Given the description of an element on the screen output the (x, y) to click on. 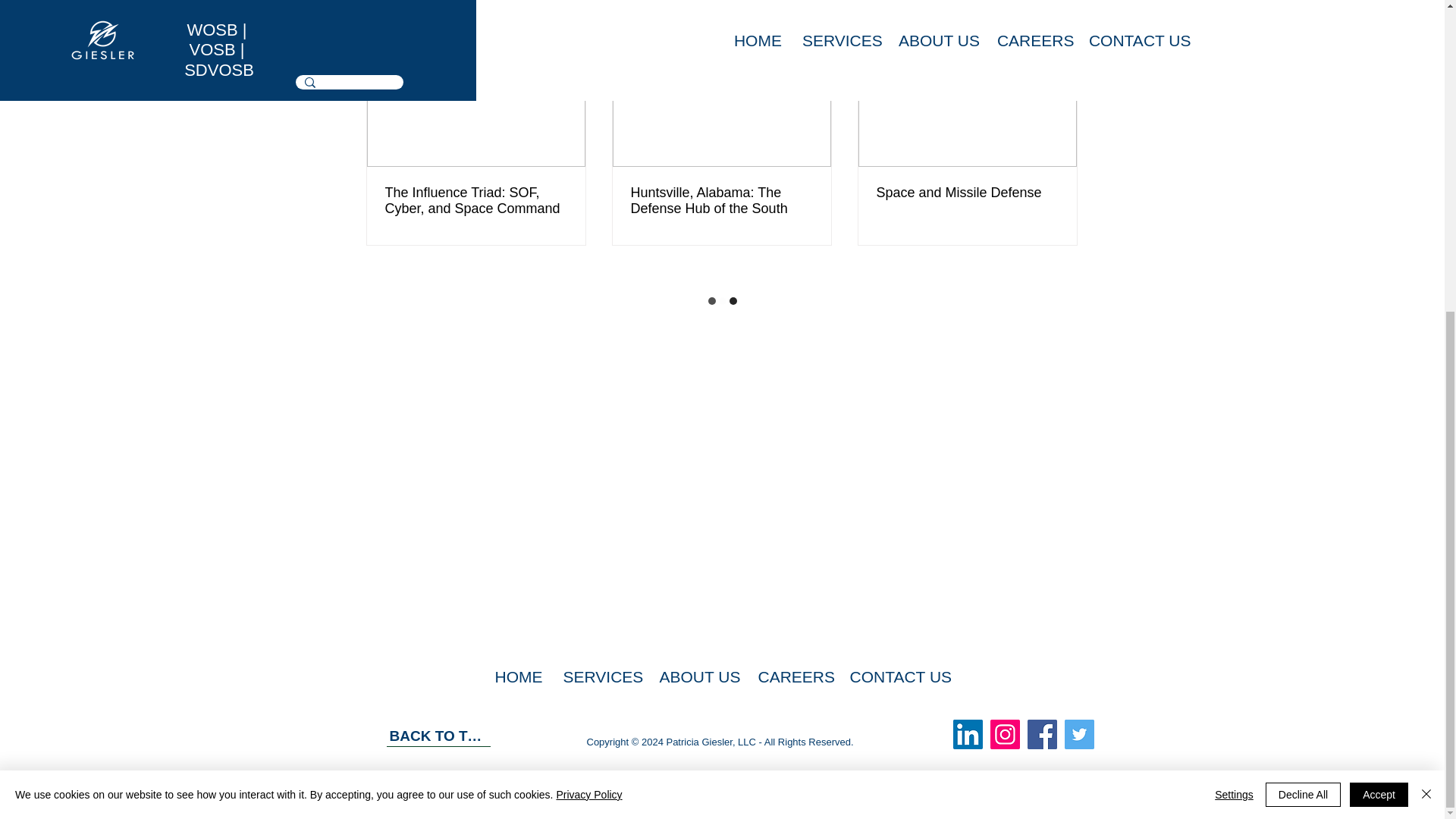
HOME (517, 677)
See All (1061, 16)
SERVICES (599, 677)
Space and Missile Defense (967, 192)
Huntsville, Alabama: The Defense Hub of the South (721, 201)
The Influence Triad: SOF, Cyber, and Space Command (476, 201)
